Given the description of an element on the screen output the (x, y) to click on. 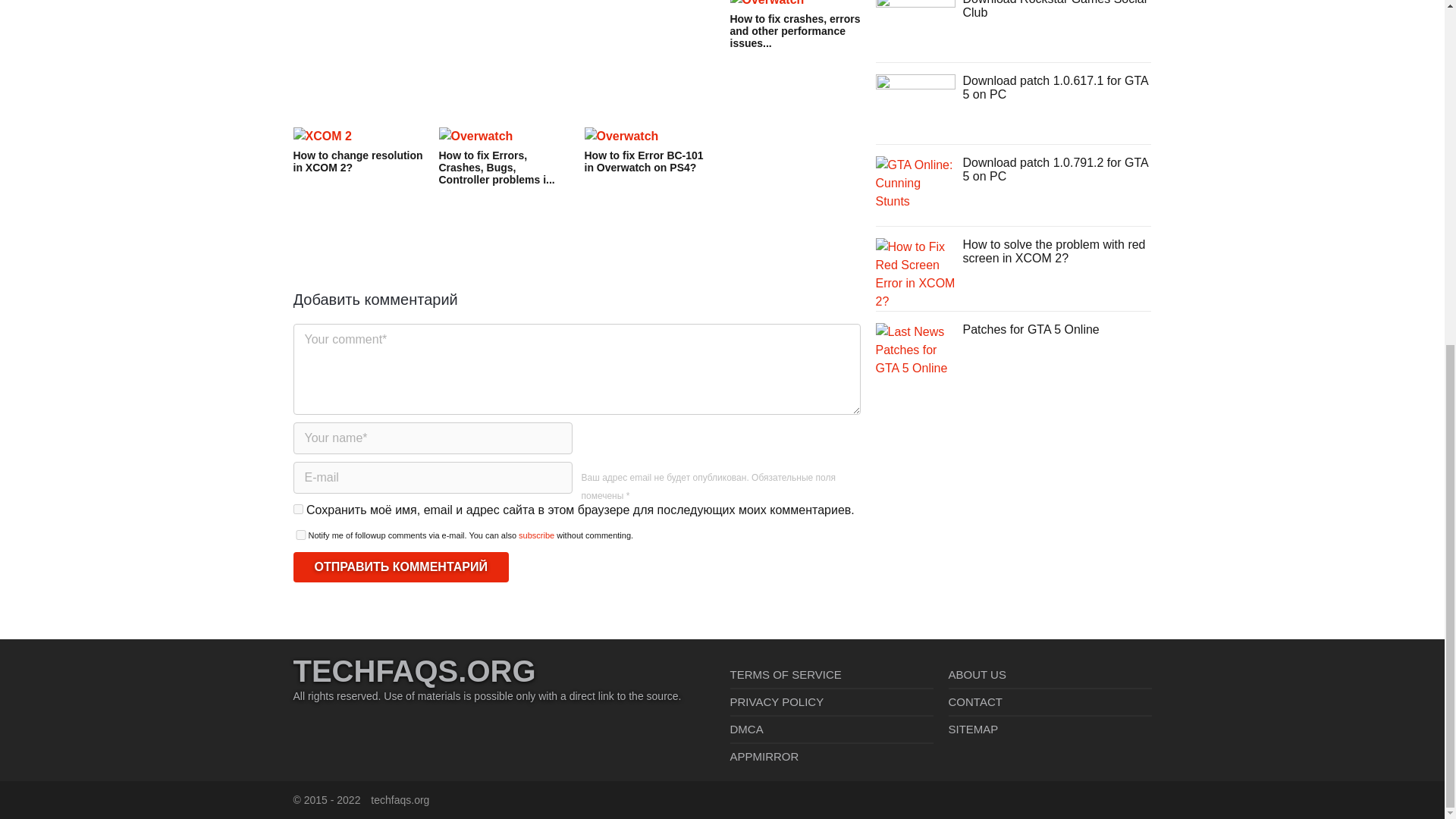
yes (297, 509)
Download Rockstar Games Social Club (1054, 9)
How to fix crashes, errors and other performance issues... (794, 24)
Download patch 1.0.617.1 for GTA 5 on PC (1055, 87)
Download patch 1.0.791.2 for GTA 5 on PC (915, 182)
How to fix Error BC-101 in Overwatch on PS4? (648, 150)
yes (299, 534)
How to fix Errors, Crashes, Bugs, Controller problems i... (503, 156)
Download patch 1.0.791.2 for GTA 5 on PC (1055, 169)
Download patch 1.0.617.1 for GTA 5 on PC (915, 101)
